Given the description of an element on the screen output the (x, y) to click on. 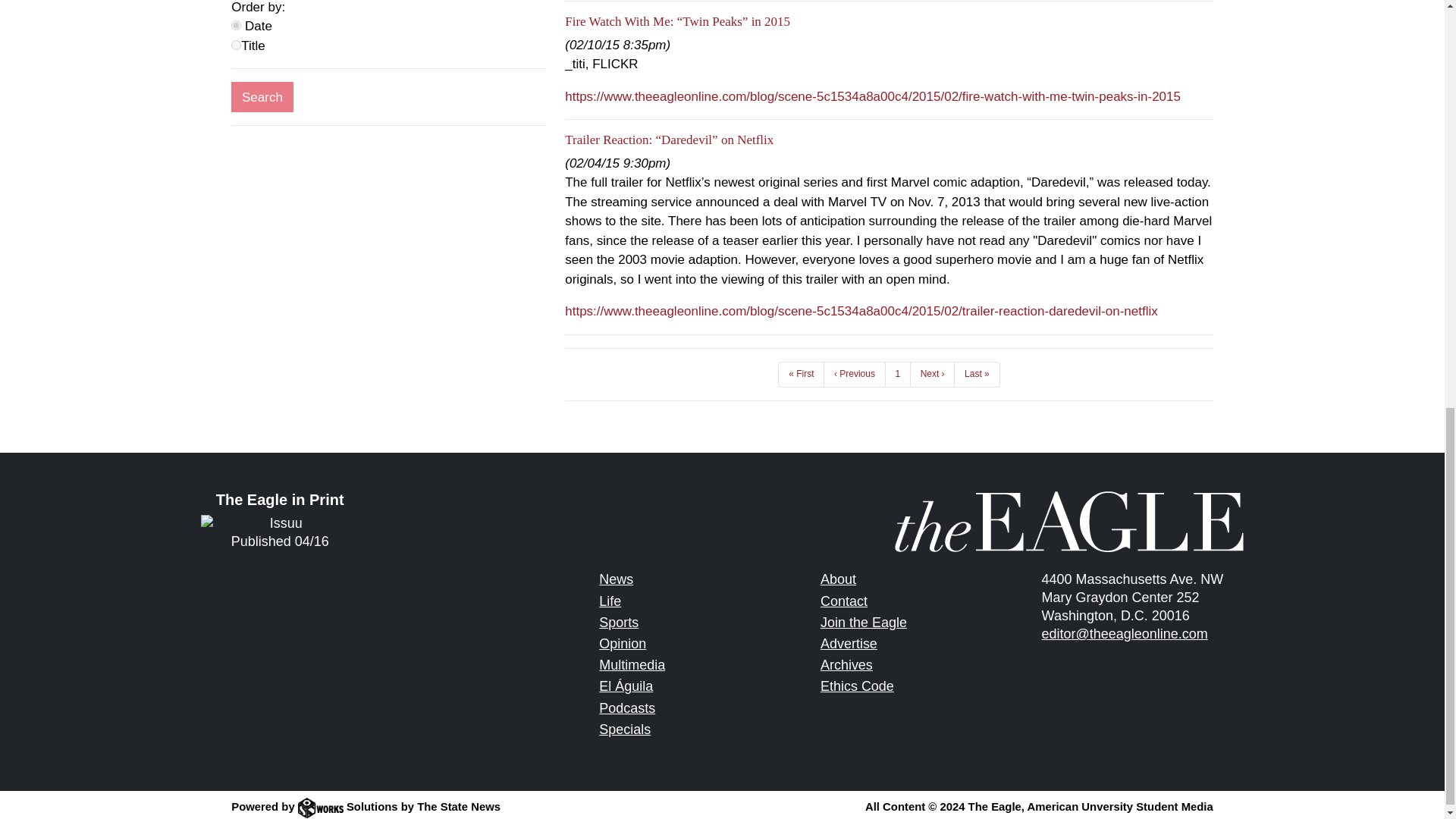
title (236, 44)
Search (261, 96)
date (236, 25)
